Given the description of an element on the screen output the (x, y) to click on. 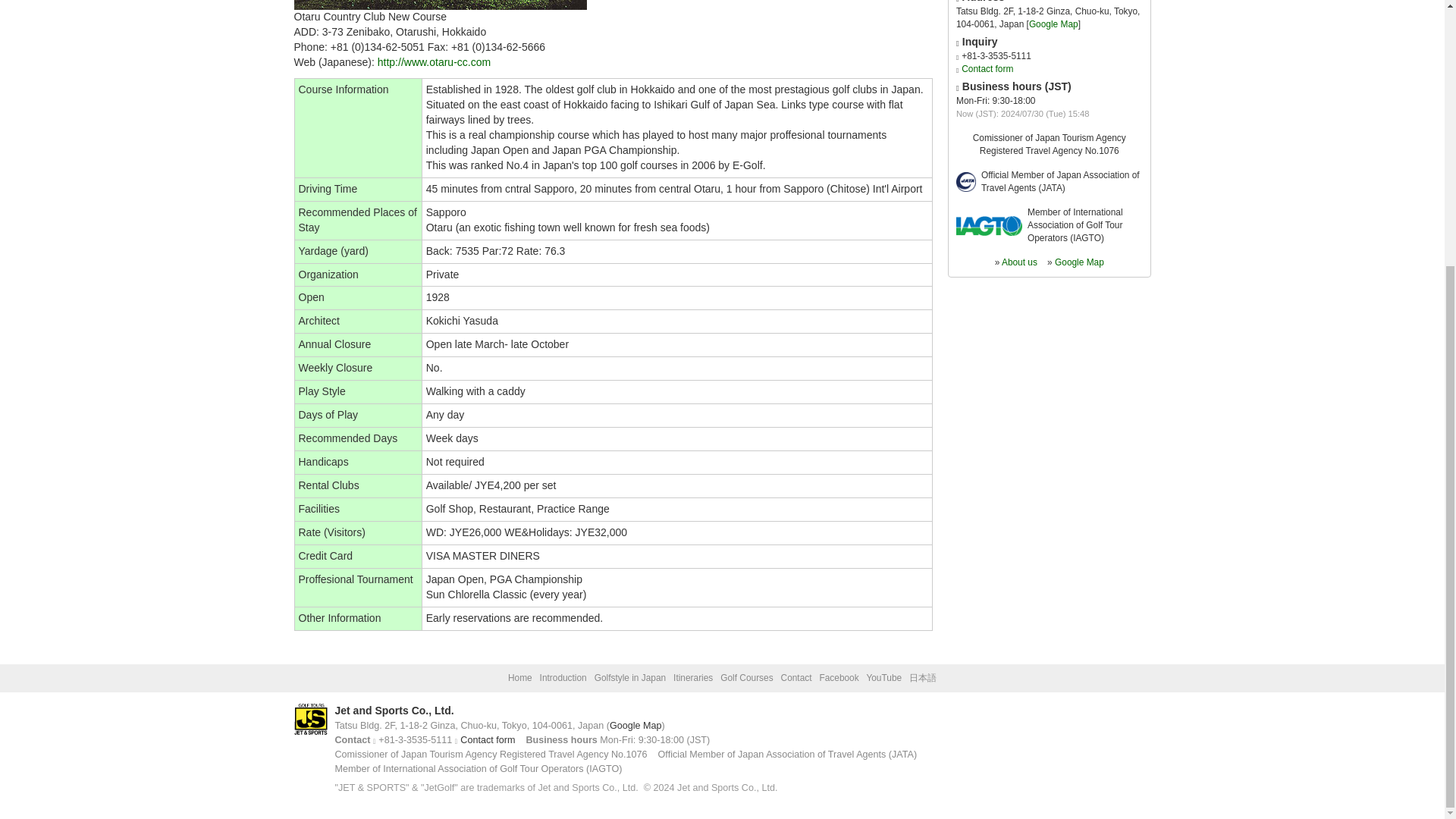
Jet and Sports Co., Ltd. (394, 710)
Contact (796, 677)
Golfstyle in Japan (630, 677)
Google Map (636, 725)
Golf Courses (746, 677)
Itineraries (692, 677)
About us (1018, 262)
Facebook (838, 677)
Home (520, 677)
Introduction (563, 677)
YouTube (883, 677)
Google Map (1053, 23)
Google Map (1078, 262)
Contact form (986, 68)
